Given the description of an element on the screen output the (x, y) to click on. 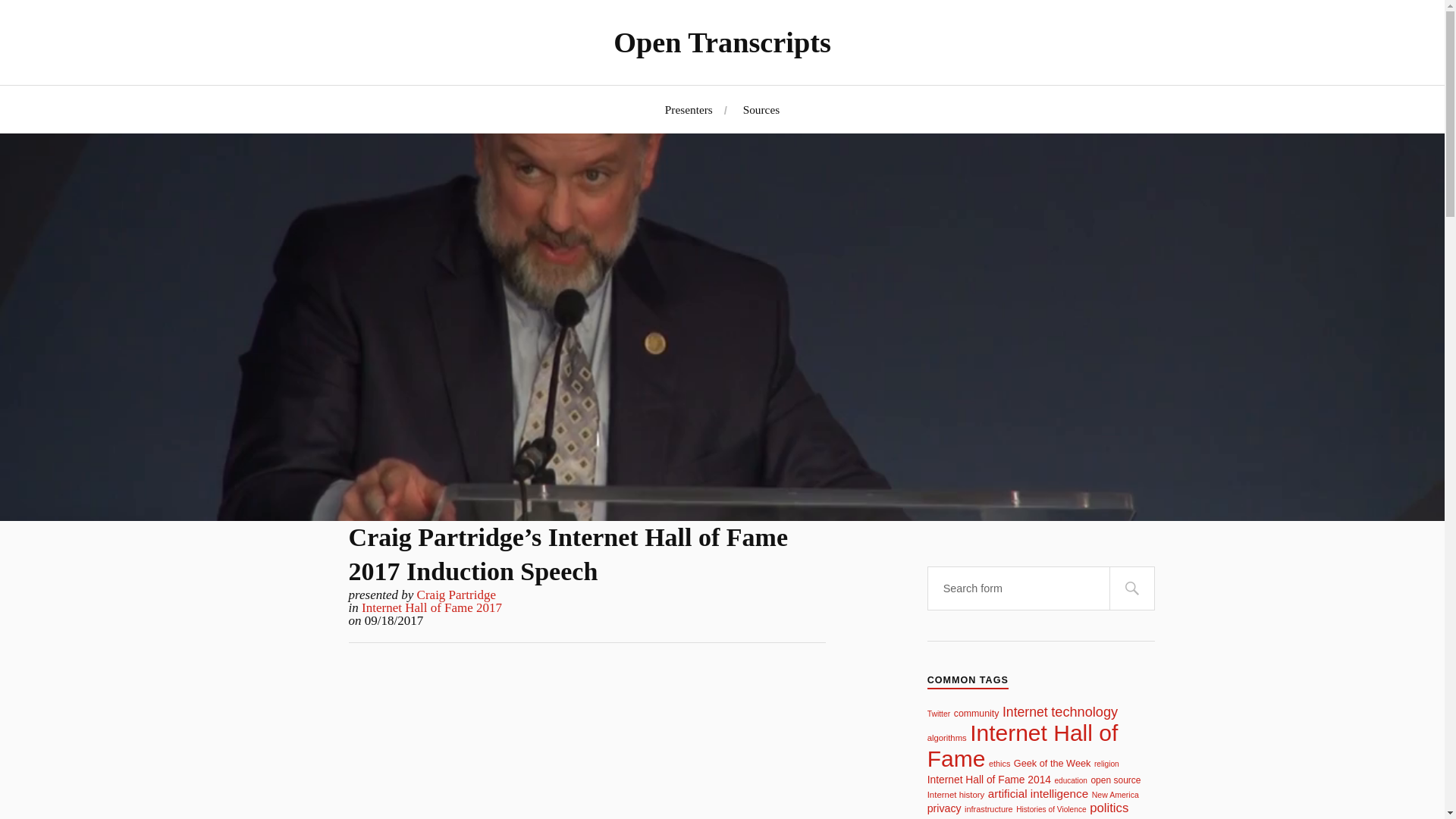
technology (1084, 711)
30 topics (1070, 780)
35 topics (999, 763)
Craig Partridge (456, 594)
education (1070, 780)
Presenters (689, 109)
38 topics (956, 794)
Internet Hall of Fame 2014 (989, 779)
37 topics (946, 737)
45 topics (1051, 763)
Internet Hall of Fame 2017 Craig Partridge Acceptance Speech (587, 748)
Internet (1025, 711)
ethics (999, 763)
41 topics (1115, 779)
Twitter (938, 714)
